Given the description of an element on the screen output the (x, y) to click on. 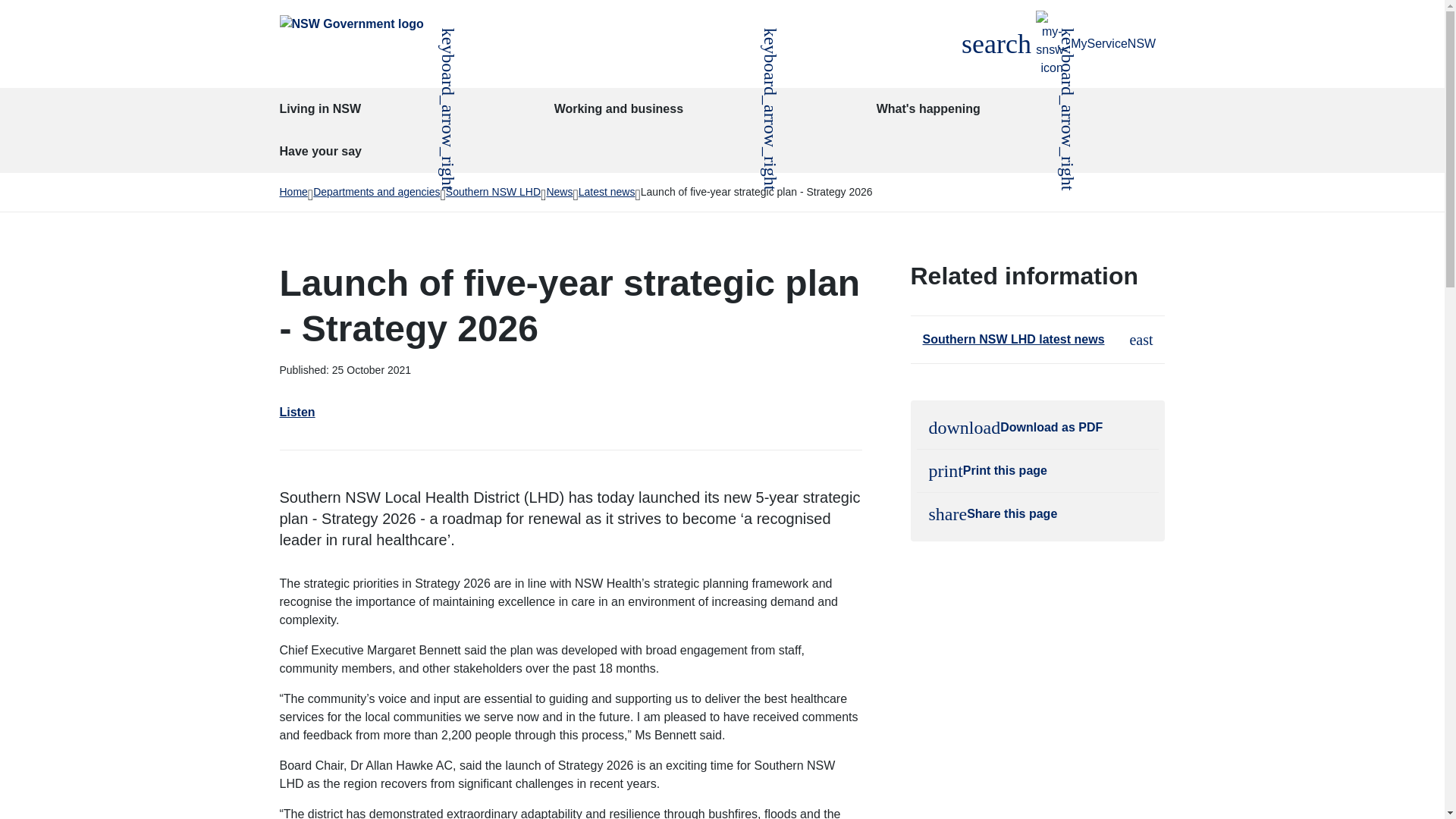
MyServiceNSW (996, 43)
Listen to this page using ReadSpeaker webReader (1096, 43)
